Given the description of an element on the screen output the (x, y) to click on. 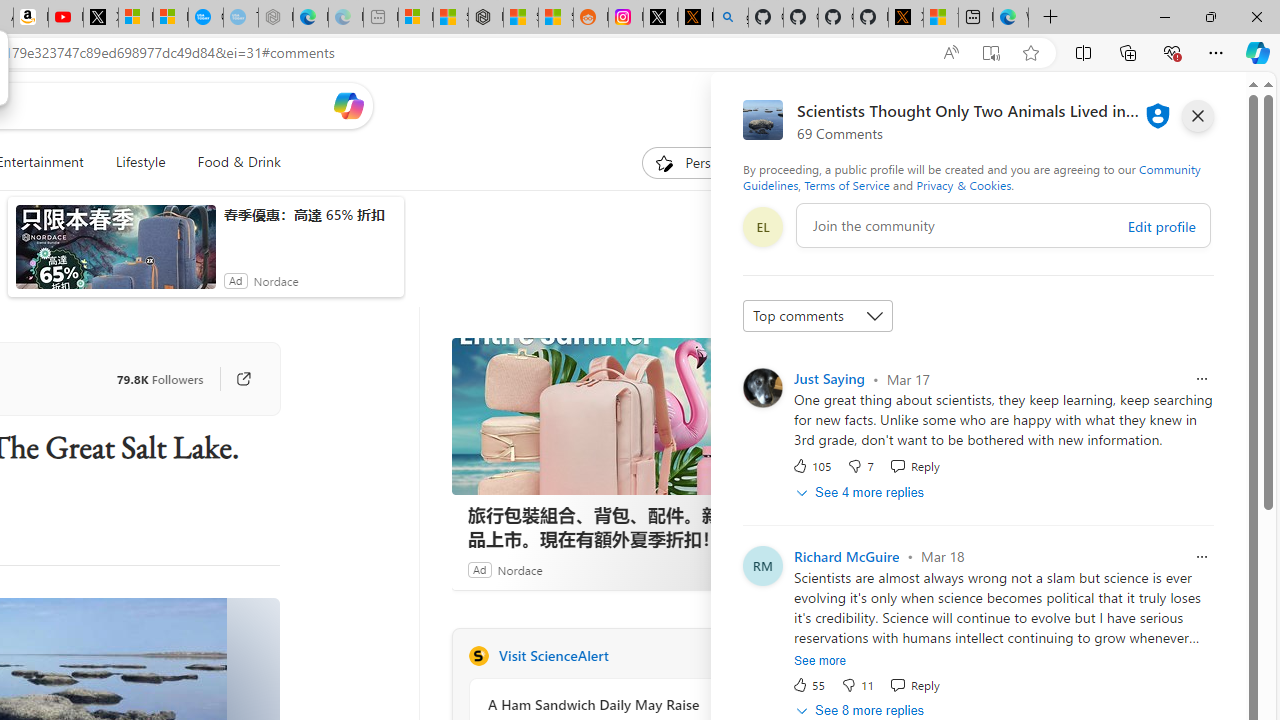
ScienceAlert (478, 655)
Privacy & Cookies (964, 184)
Log in to X / X (660, 17)
Just Saying (829, 378)
See more (820, 659)
Report comment (1201, 556)
Community Guidelines (971, 176)
Personalize (703, 162)
Shanghai, China Weather trends | Microsoft Weather (555, 17)
help.x.com | 524: A timeout occurred (695, 17)
